Given the description of an element on the screen output the (x, y) to click on. 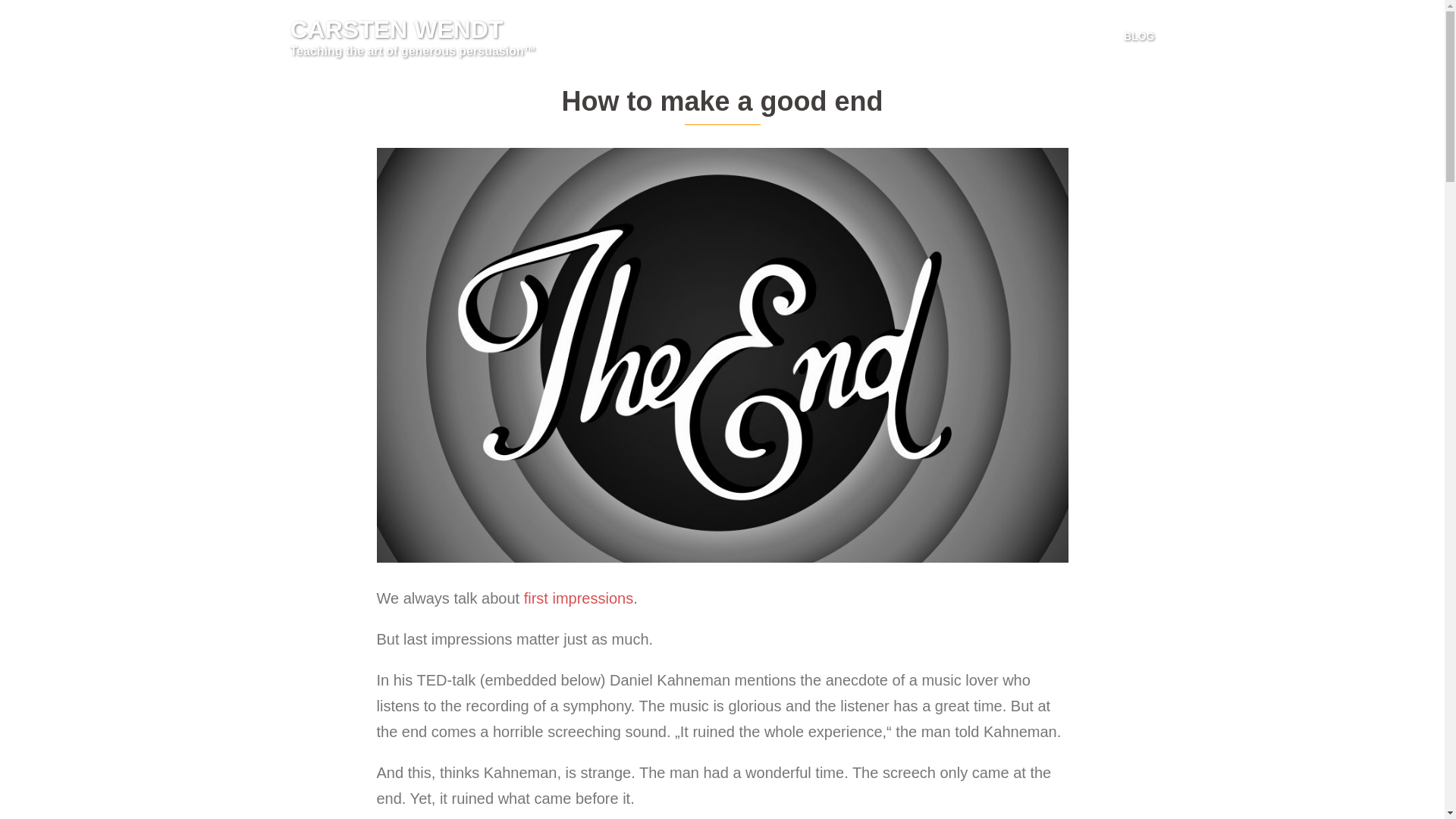
Your page talks (578, 597)
CARSTEN WENDT (395, 29)
first impressions (578, 597)
Committed writing on committted speaking. (1139, 36)
BLOG (1139, 36)
